Given the description of an element on the screen output the (x, y) to click on. 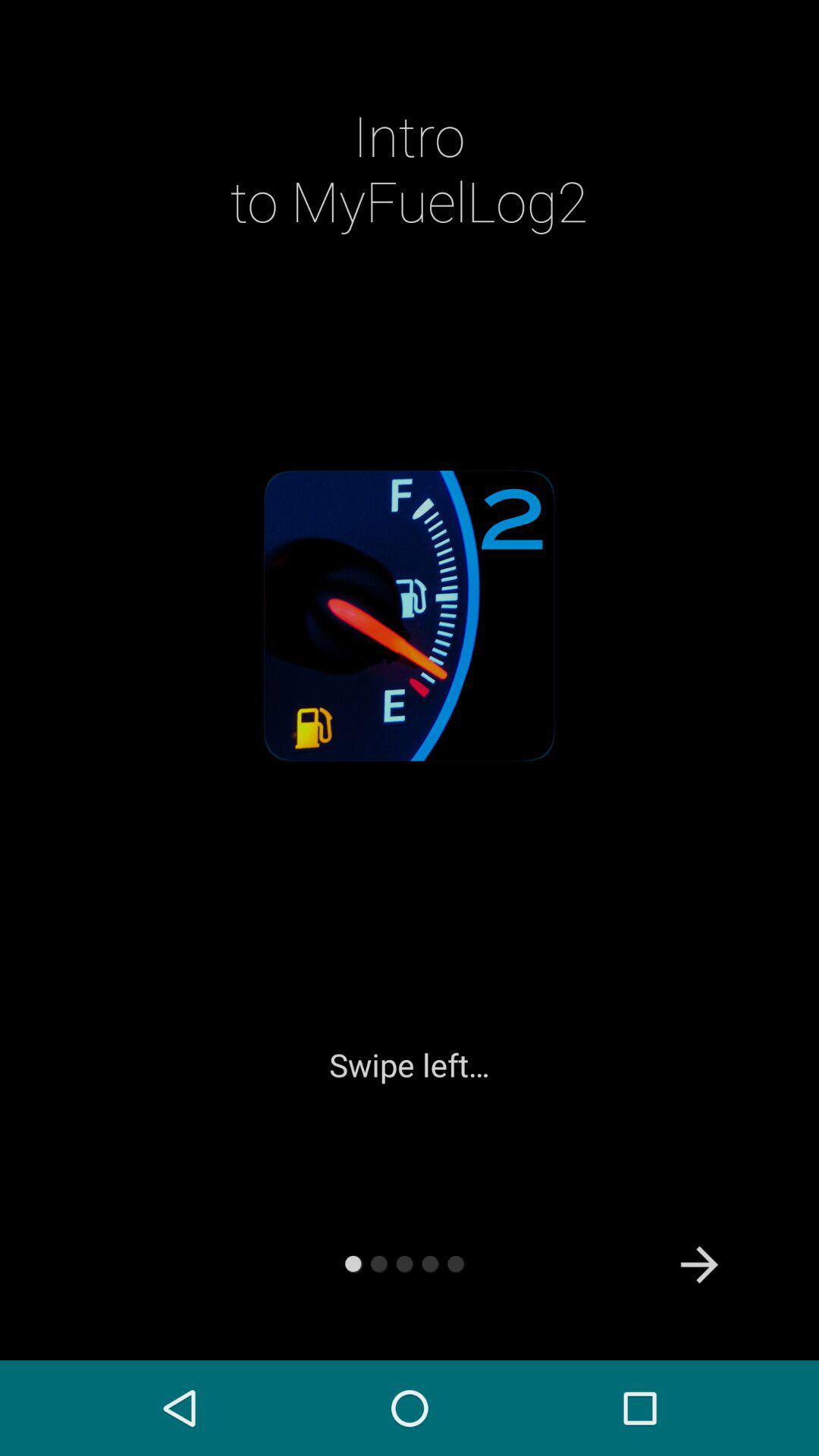
tap icon at the bottom right corner (699, 1264)
